Given the description of an element on the screen output the (x, y) to click on. 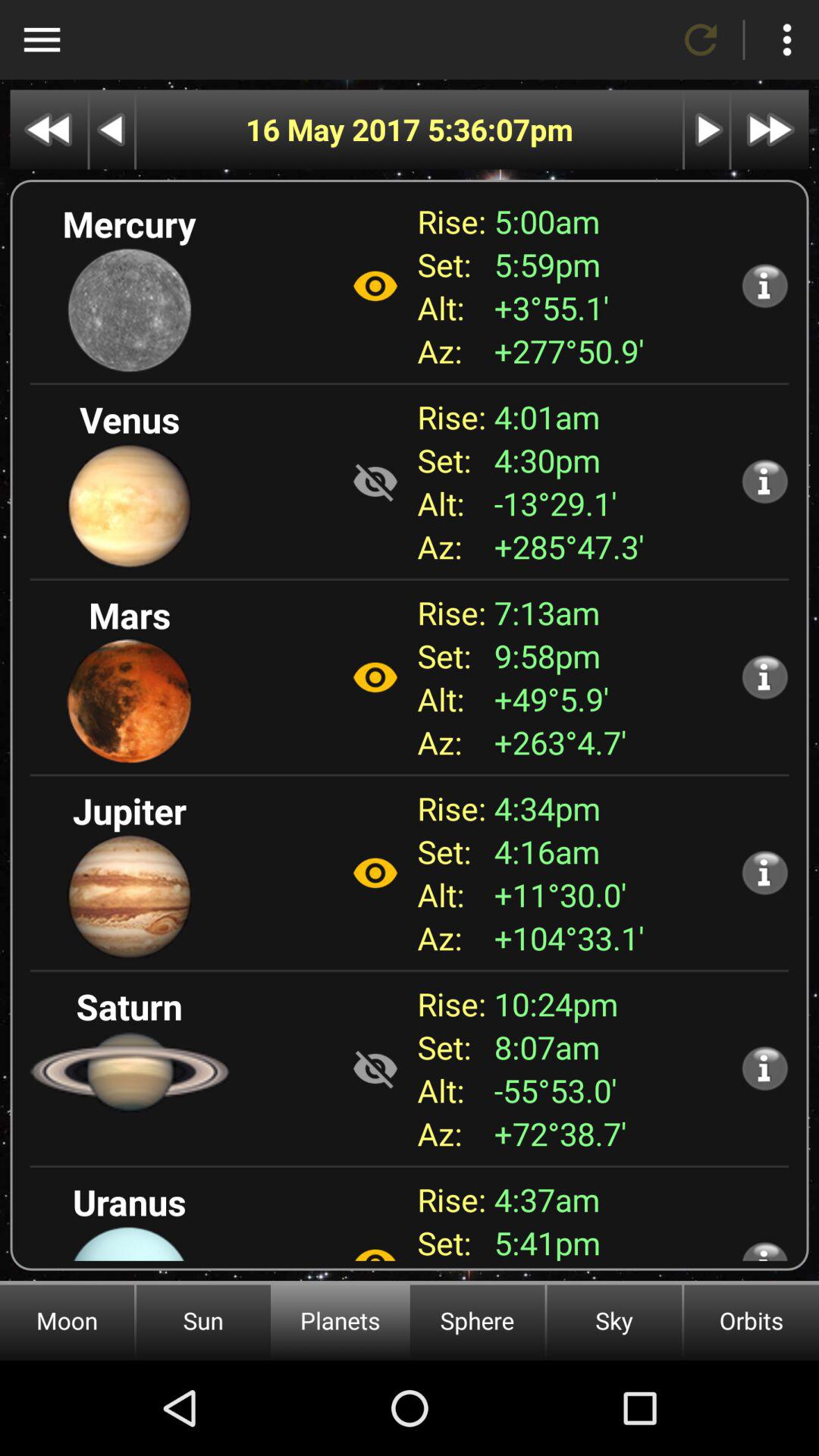
notification (764, 1068)
